Given the description of an element on the screen output the (x, y) to click on. 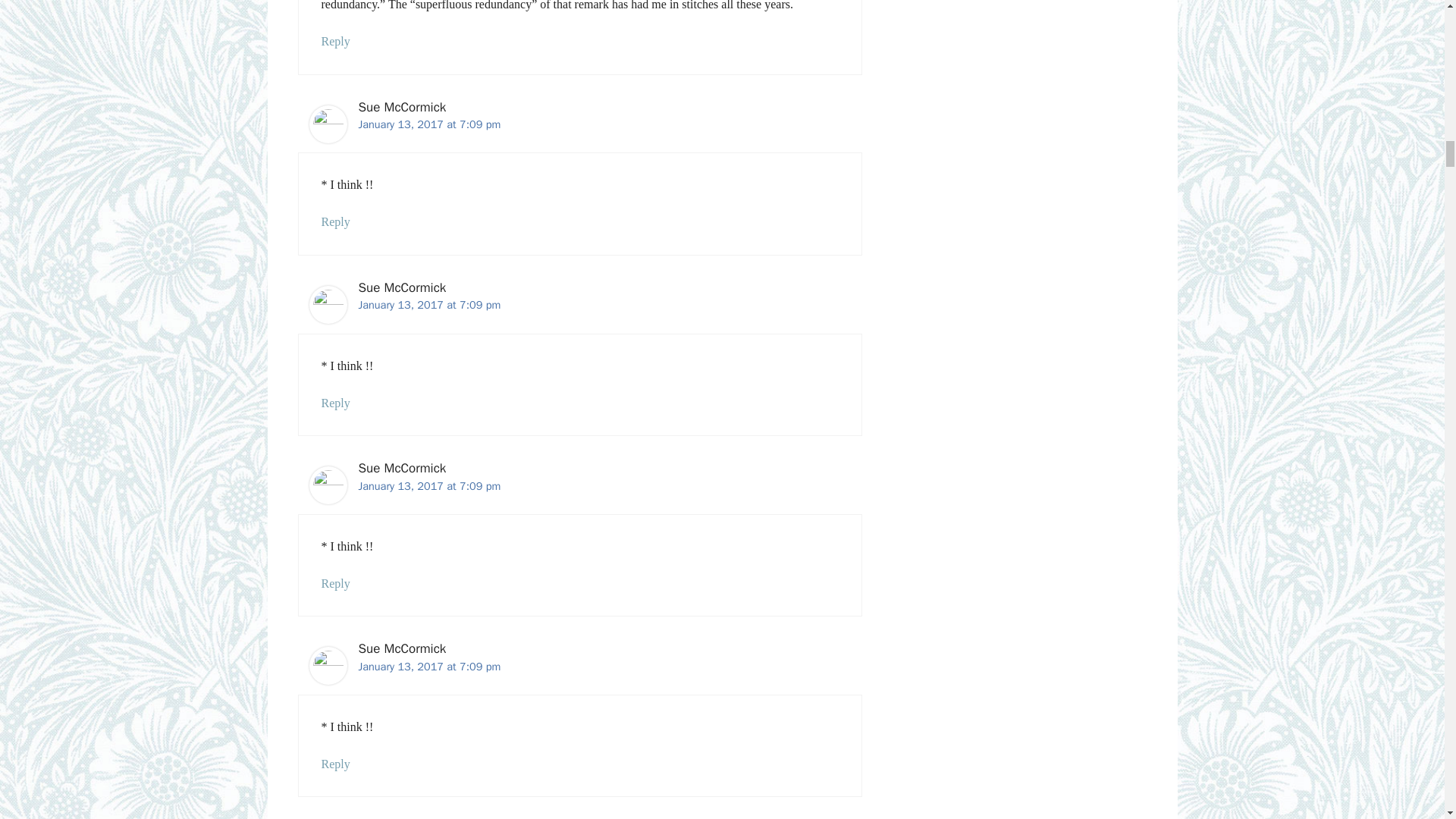
Reply (335, 41)
January 13, 2017 at 7:09 pm (429, 124)
